Given the description of an element on the screen output the (x, y) to click on. 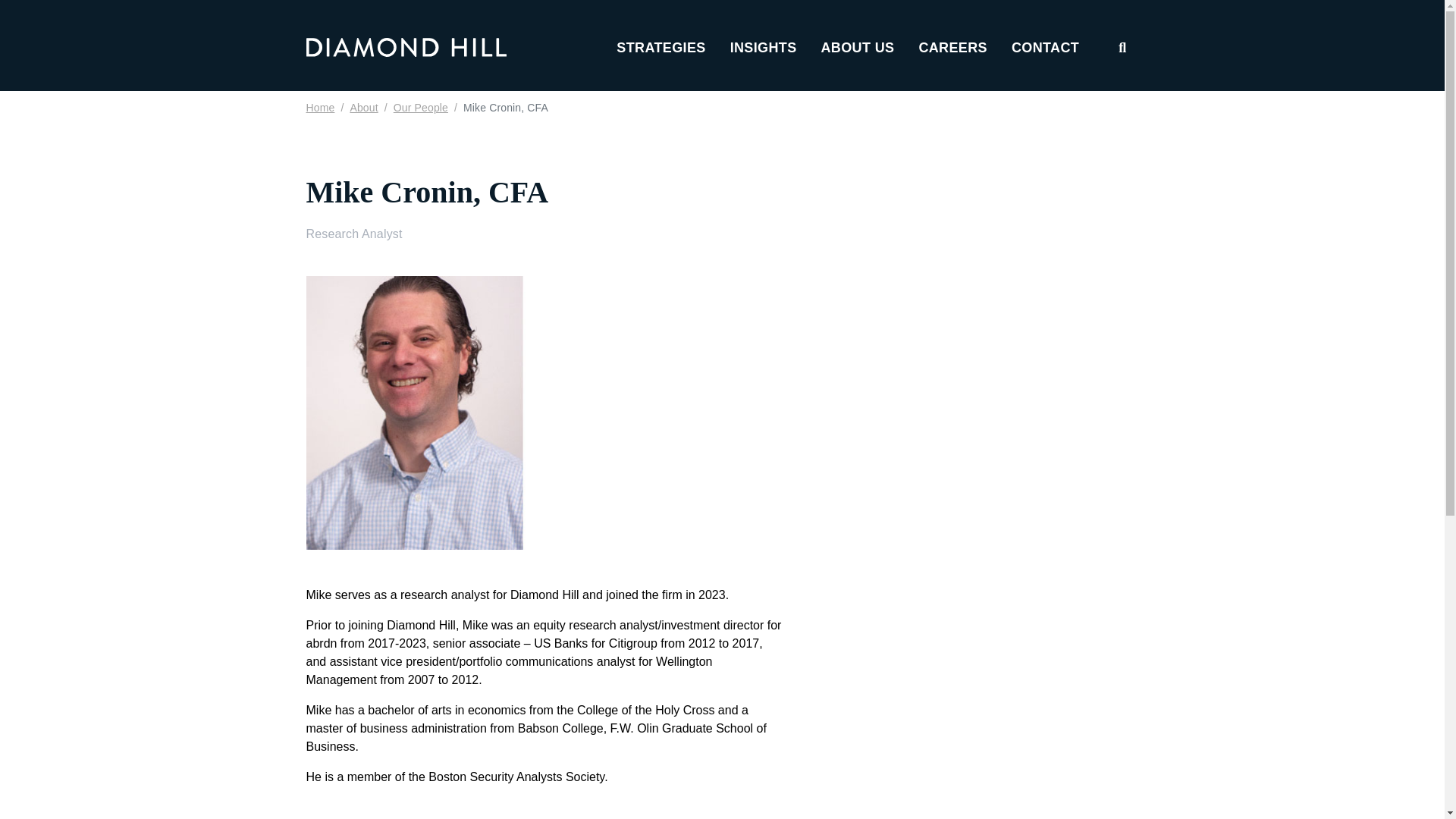
STRATEGIES (659, 41)
ABOUT US (858, 41)
